Given the description of an element on the screen output the (x, y) to click on. 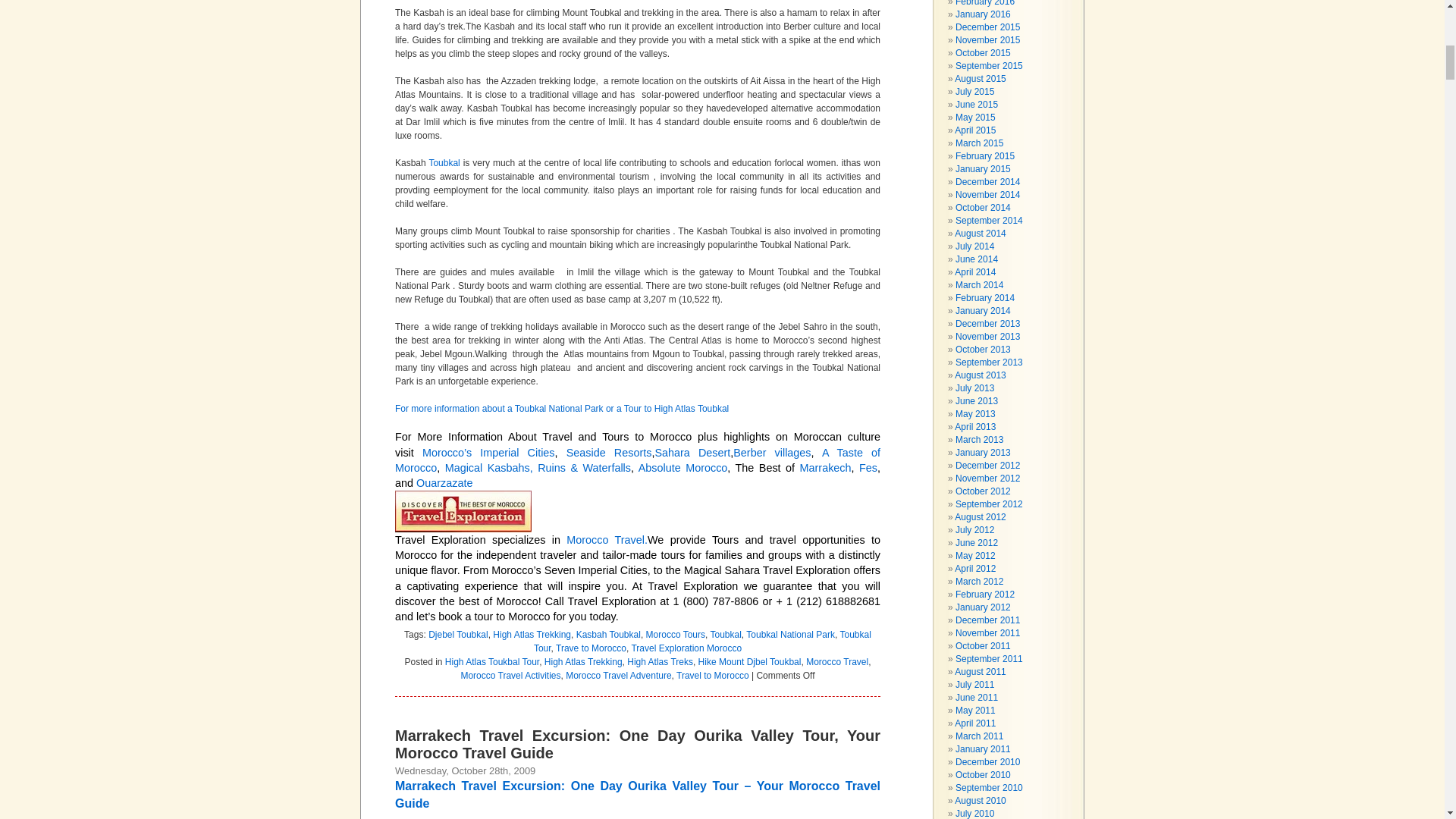
Sahara Desert (691, 452)
travel-exploration-signature-logo-link13 (462, 511)
Seaside Resorts (609, 452)
Toubkal (444, 163)
